Given the description of an element on the screen output the (x, y) to click on. 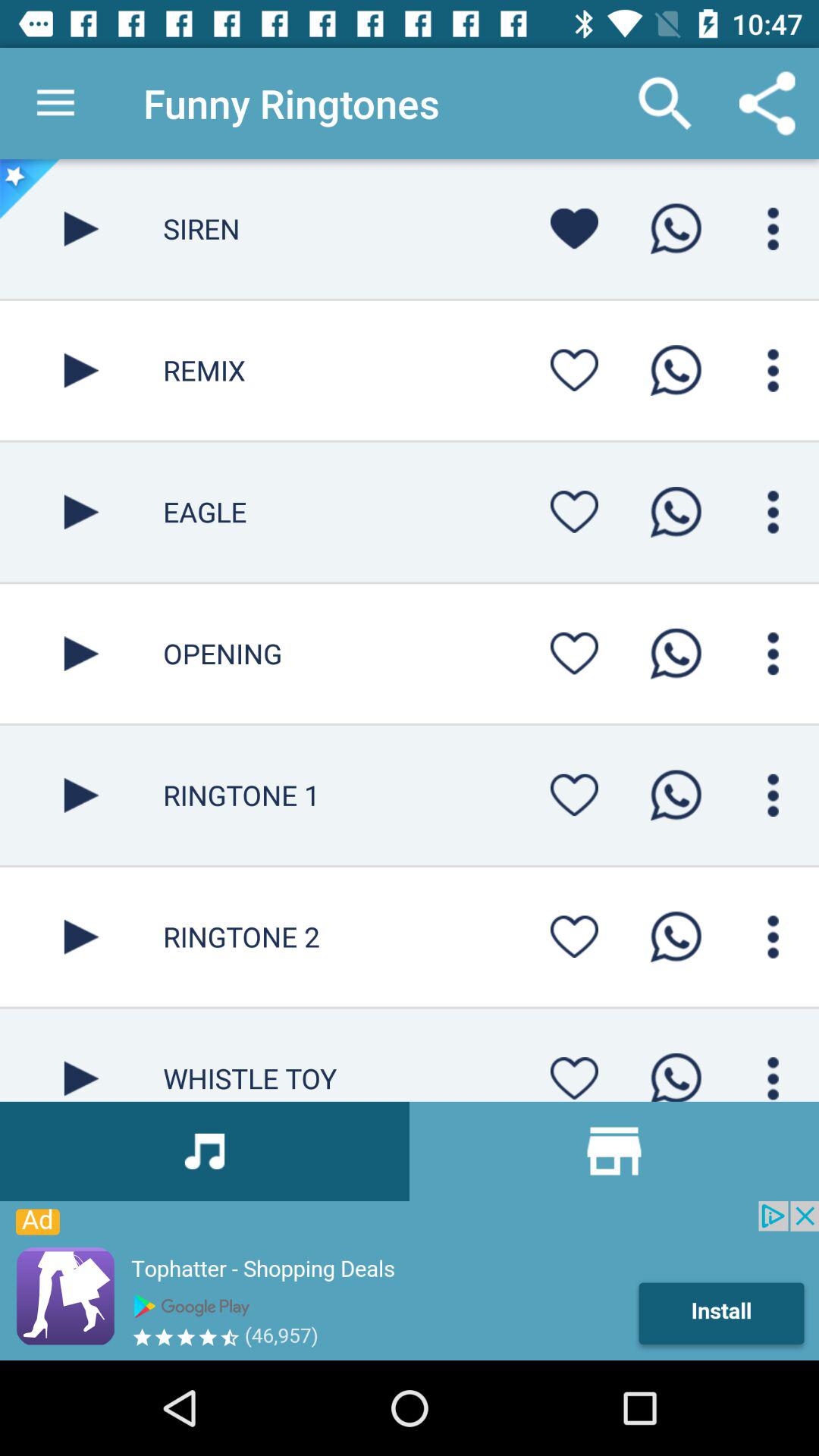
whatsapp option (675, 370)
